Given the description of an element on the screen output the (x, y) to click on. 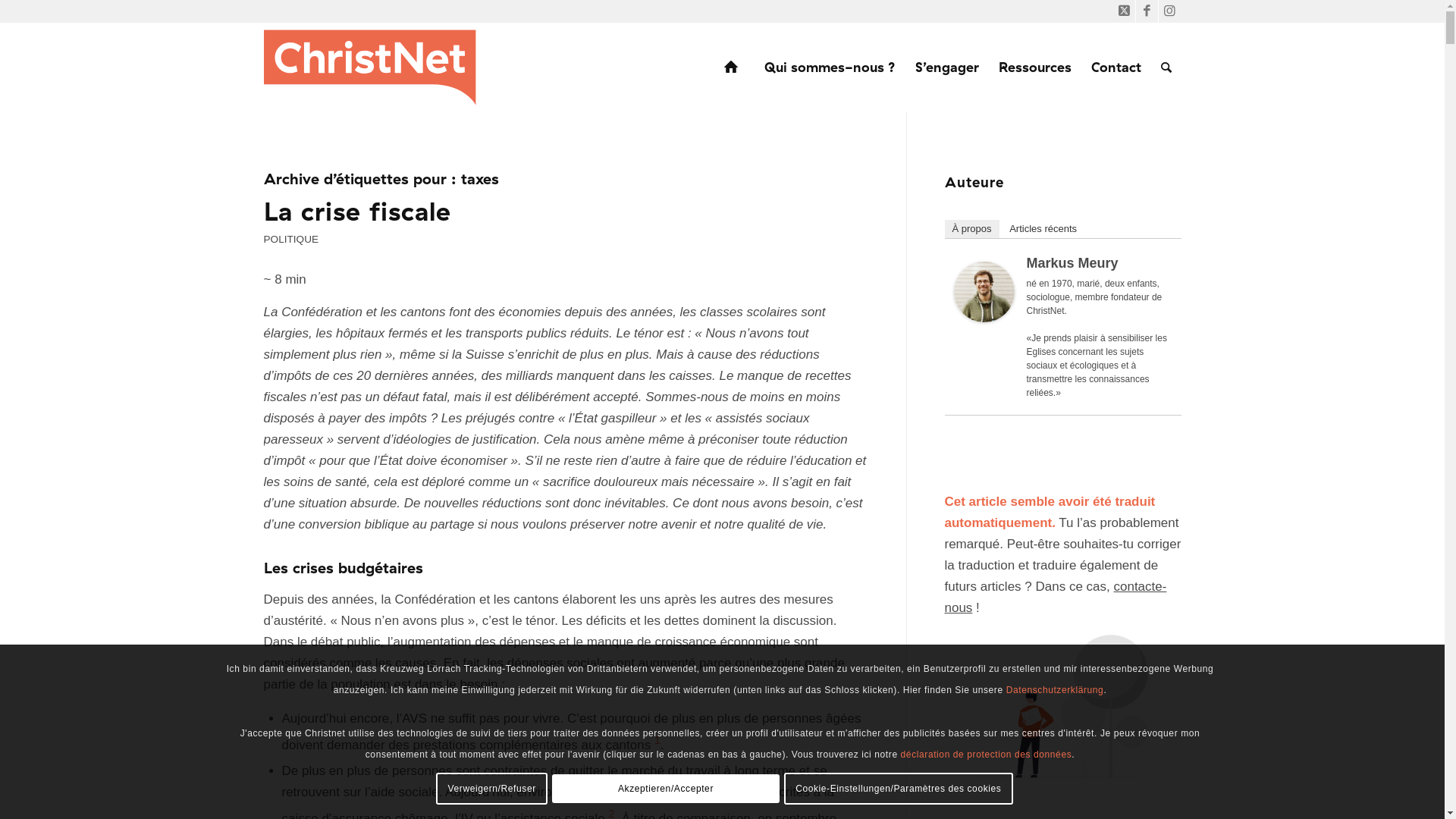
Akzeptieren/Accepter Element type: text (665, 788)
contacte-nous Element type: text (1055, 597)
Instagram Element type: hover (1169, 11)
POLITIQUE Element type: text (291, 238)
Contact Element type: text (1116, 67)
Markus Meury Element type: hover (983, 317)
Twitter Element type: hover (1124, 11)
Markus Meury Element type: text (1072, 262)
Qui sommes-nous ? Element type: text (828, 67)
La crise fiscale Element type: text (357, 210)
Facebook Element type: hover (1146, 11)
1 Element type: text (657, 740)
Logo-Christnet-2023-3240 Element type: hover (372, 67)
Ressources Element type: text (1034, 67)
Logo-Christnet-2023-3240 Element type: hover (372, 67)
Verweigern/Refuser Element type: text (491, 788)
